Given the description of an element on the screen output the (x, y) to click on. 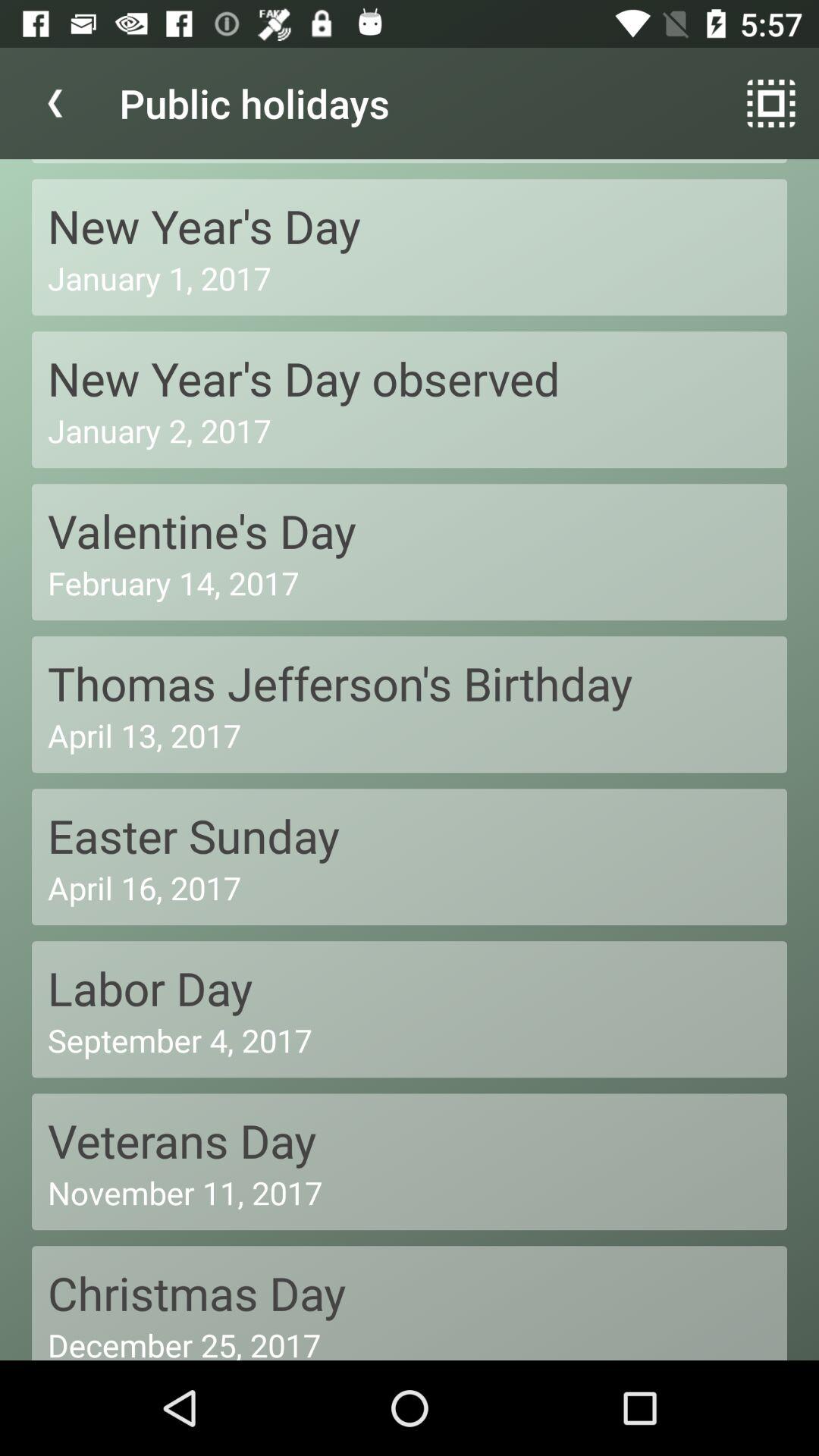
flip to the christmas day icon (409, 1292)
